Given the description of an element on the screen output the (x, y) to click on. 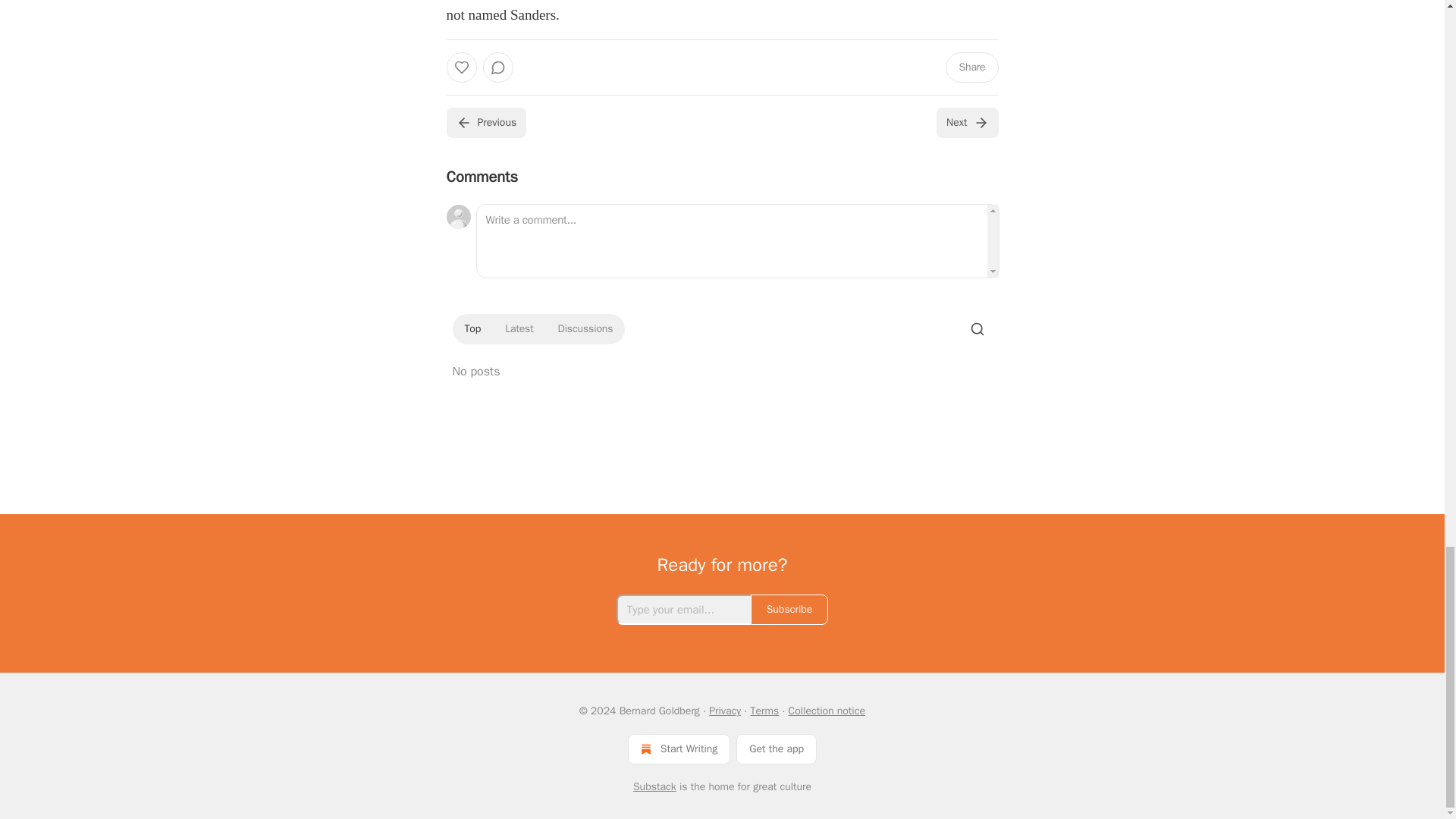
Subscribe (789, 609)
Latest (518, 328)
Top (471, 328)
Discussions (585, 328)
Previous (485, 122)
Share (970, 67)
Next (966, 122)
